Given the description of an element on the screen output the (x, y) to click on. 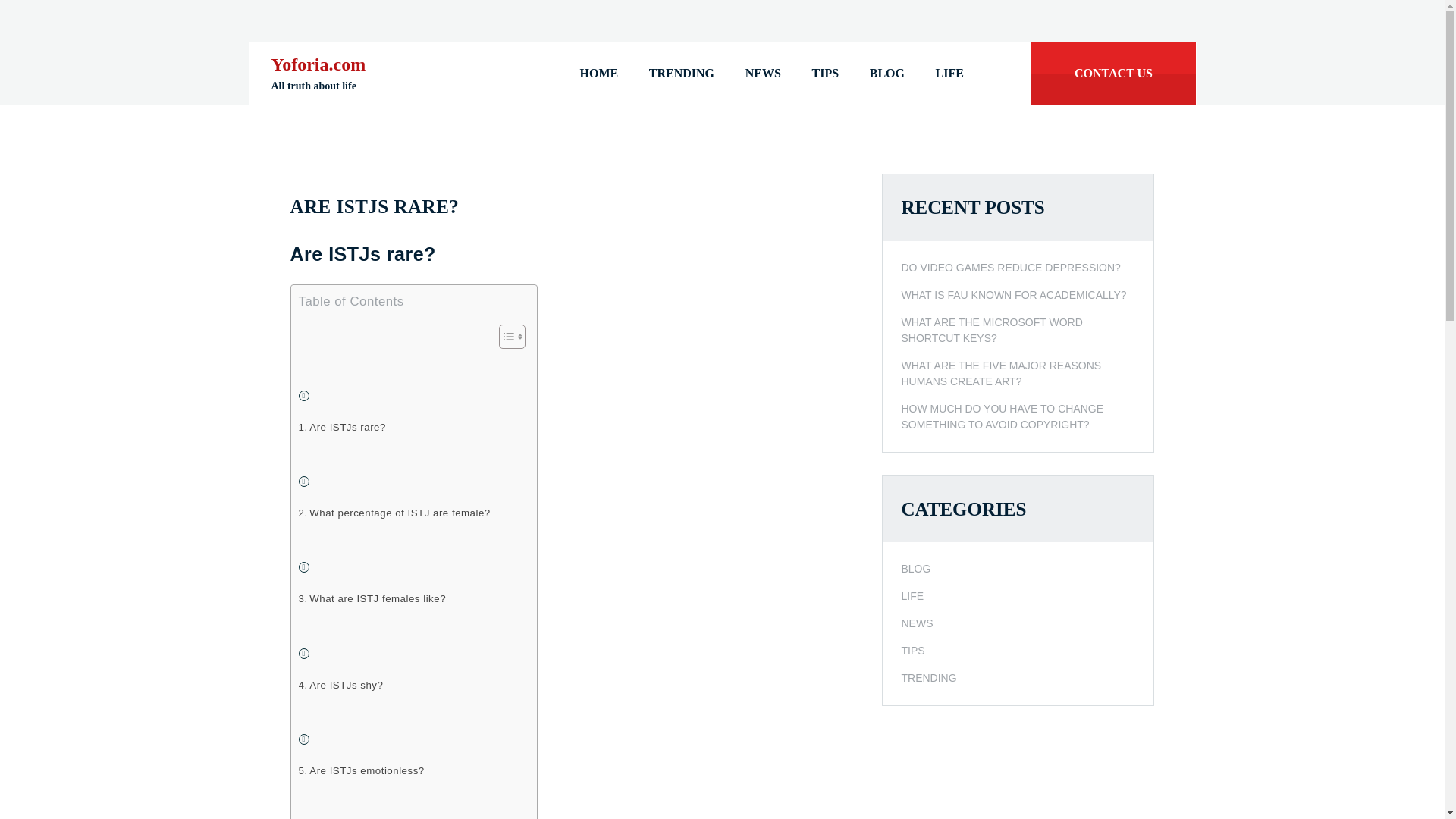
What are ISTJ females like? (372, 598)
TRENDING (681, 73)
BLOG (886, 73)
WHAT ARE THE MICROSOFT WORD SHORTCUT KEYS? (1017, 329)
Are ISTJs rare? (341, 426)
BLOG (915, 569)
Are ISTJs rare? (341, 426)
What percentage of ISTJ are female? (394, 512)
HOME (598, 73)
WHAT ARE THE FIVE MAJOR REASONS HUMANS CREATE ART? (1017, 373)
NEWS (917, 623)
TIPS (912, 650)
Are ISTJs emotionless? (361, 770)
CONTACT US (1112, 73)
Are ISTJs emotionless? (361, 770)
